Given the description of an element on the screen output the (x, y) to click on. 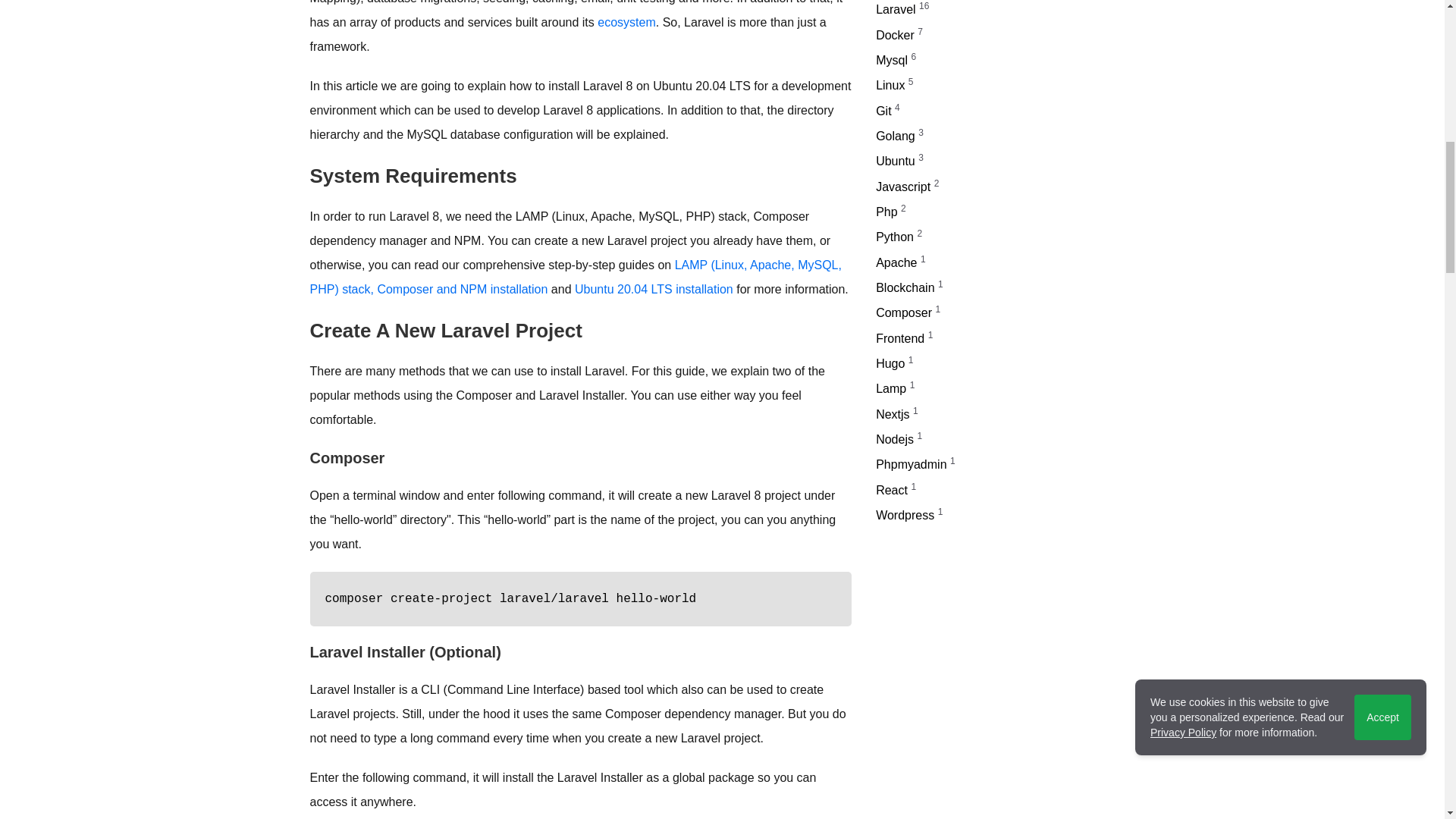
Ubuntu 20.04 LTS installation (654, 288)
ecosystem (625, 21)
